Given the description of an element on the screen output the (x, y) to click on. 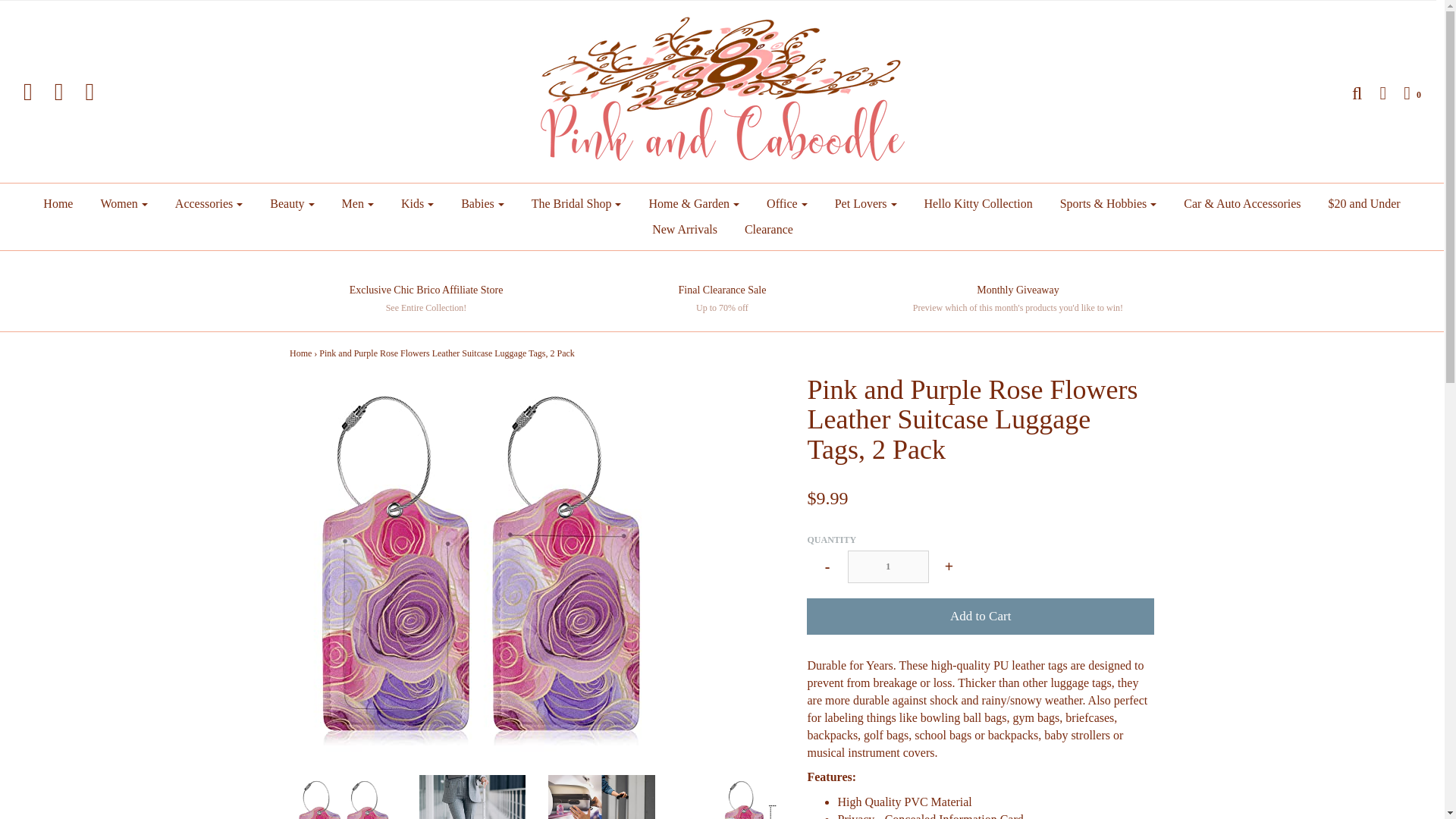
Log in (1375, 92)
Search (1348, 92)
Back to the Home Page (300, 353)
1 (887, 566)
Your Cart (1405, 92)
